Given the description of an element on the screen output the (x, y) to click on. 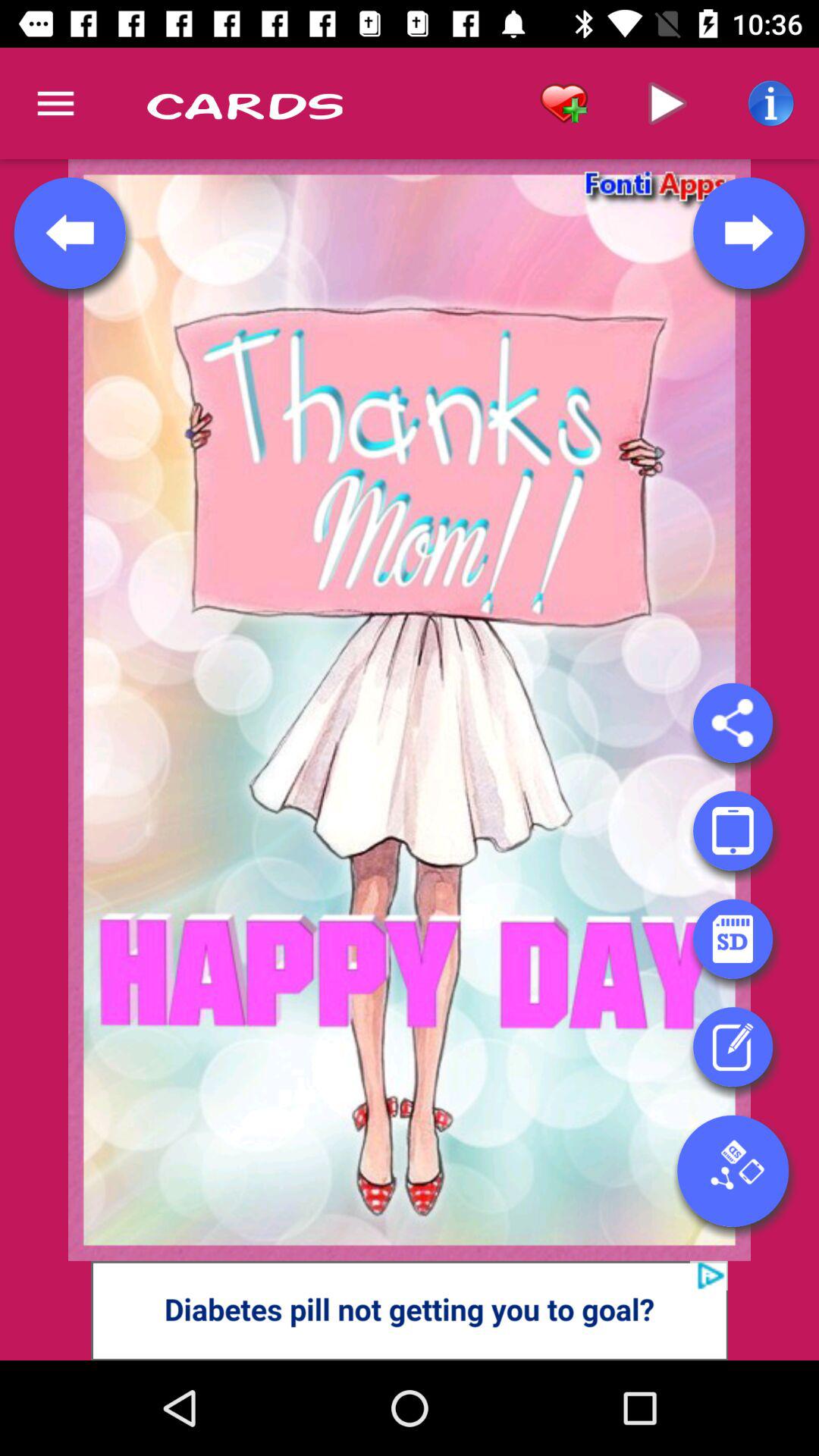
this button is for the next page (749, 233)
